Given the description of an element on the screen output the (x, y) to click on. 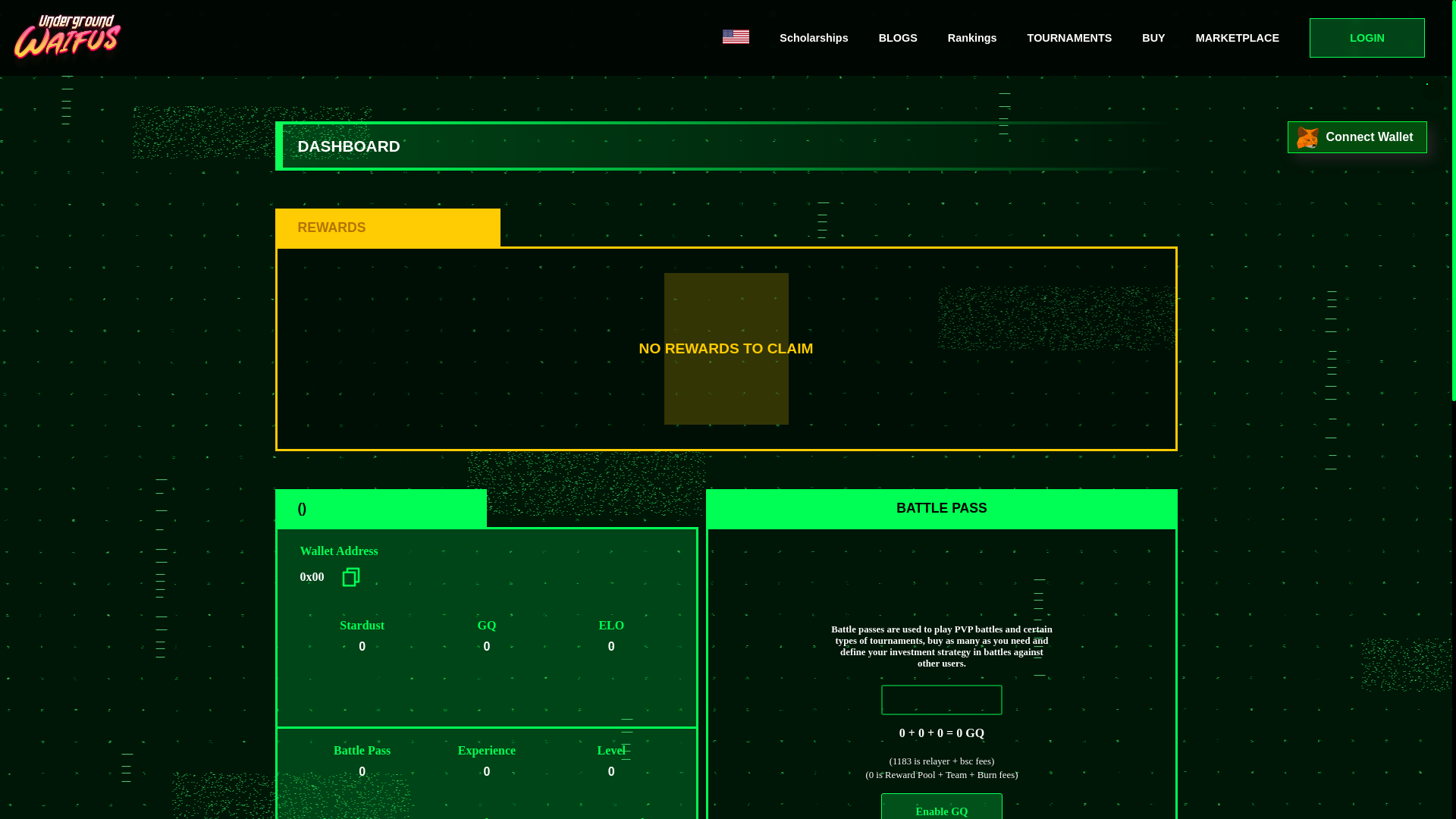
BUY (1152, 37)
Scholarships (812, 37)
LOGIN (1366, 37)
MARKETPLACE (1237, 37)
BUY (1152, 38)
TOURNAMENTS (1068, 38)
LOGIN (1366, 37)
Scholarships (813, 38)
BLOGS (898, 37)
Rankings (972, 37)
